Given the description of an element on the screen output the (x, y) to click on. 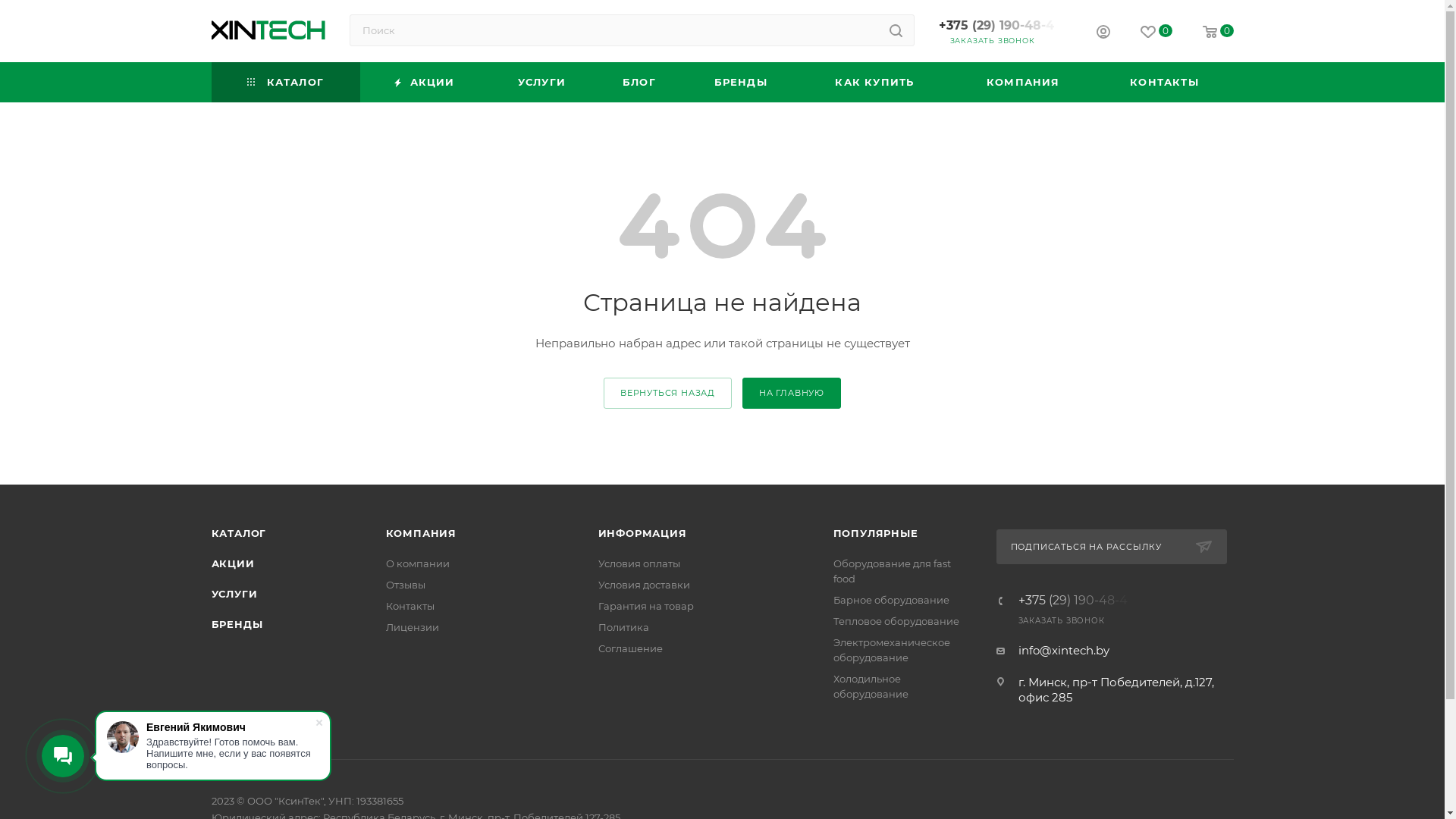
info@xintech.by Element type: text (1062, 650)
+375 (29) 190-48-4 Element type: text (999, 25)
xintech.by Element type: hover (267, 30)
0 Element type: text (1156, 31)
+375 (29) 190-48-4 Element type: text (1075, 600)
0 Element type: text (1217, 31)
